Given the description of an element on the screen output the (x, y) to click on. 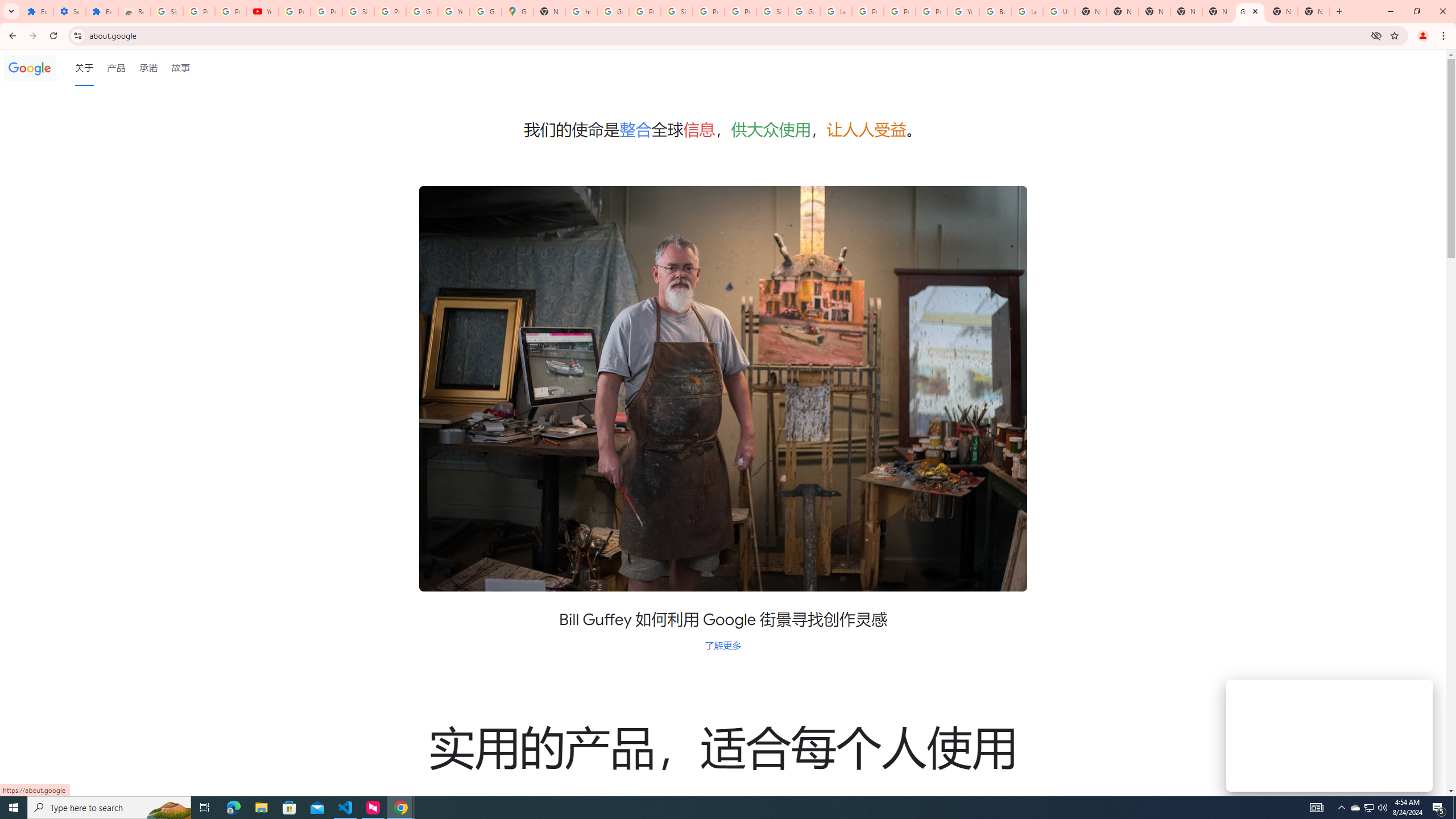
Sign in - Google Accounts (166, 11)
Sign in - Google Accounts (676, 11)
Privacy Help Center - Policies Help (899, 11)
Extensions (37, 11)
